Given the description of an element on the screen output the (x, y) to click on. 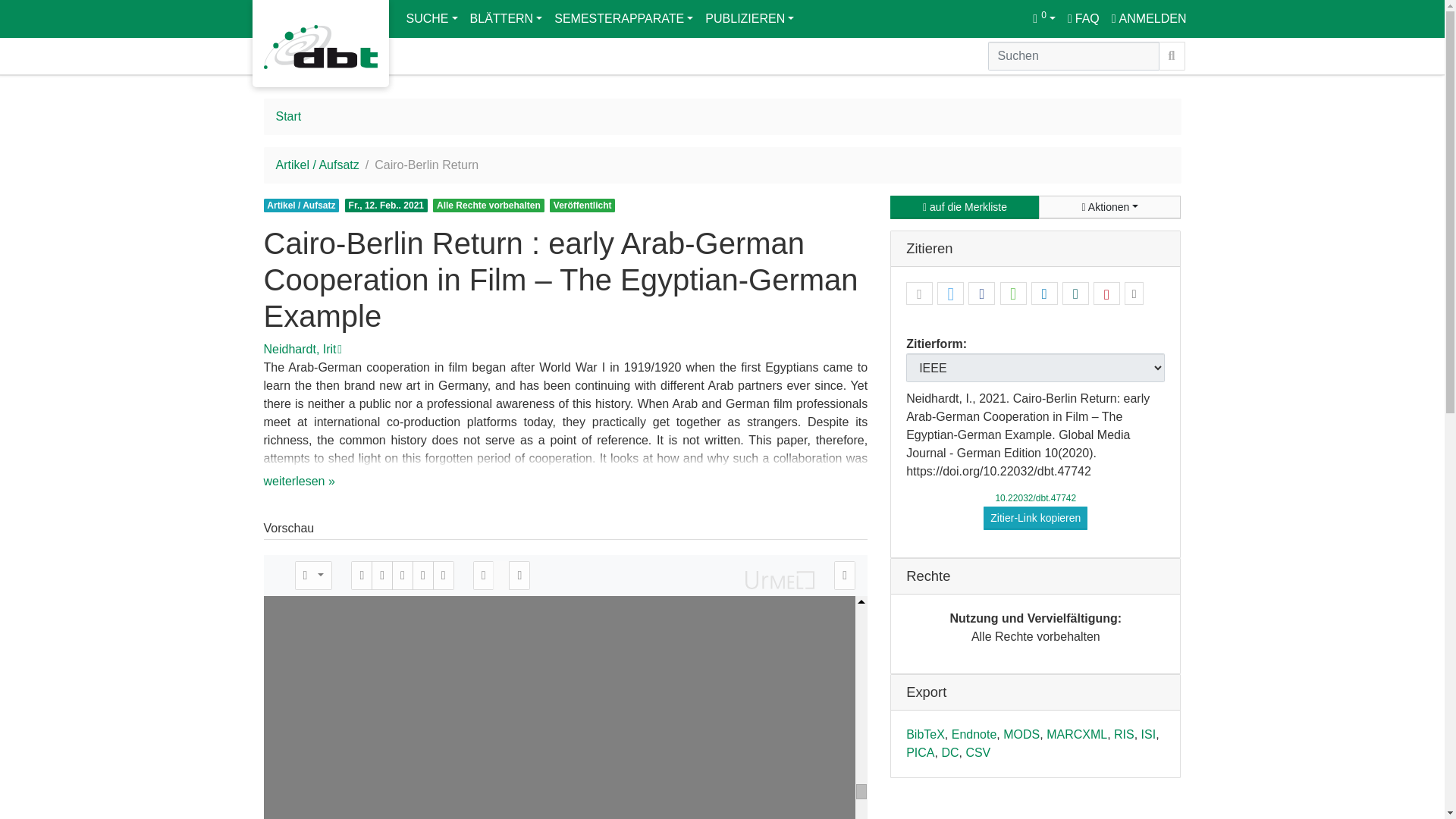
Bei Facebook teilen (981, 293)
Bei Twitter teilen (949, 293)
Alle Rechte vorbehalten (487, 205)
0 (1043, 18)
ANMELDEN (1148, 18)
SUCHE (432, 18)
Fr., 12. Feb.. 2021 (386, 205)
FAQ (1083, 18)
Publikationsstatus (582, 205)
Per E-Mail versenden (919, 293)
SEMESTERAPPARATE (623, 18)
PUBLIZIEREN (748, 18)
Neidhardt, Irit (299, 349)
Bei Whatsapp teilen (1013, 293)
Bei LinkedIn teilen (1044, 293)
